Given the description of an element on the screen output the (x, y) to click on. 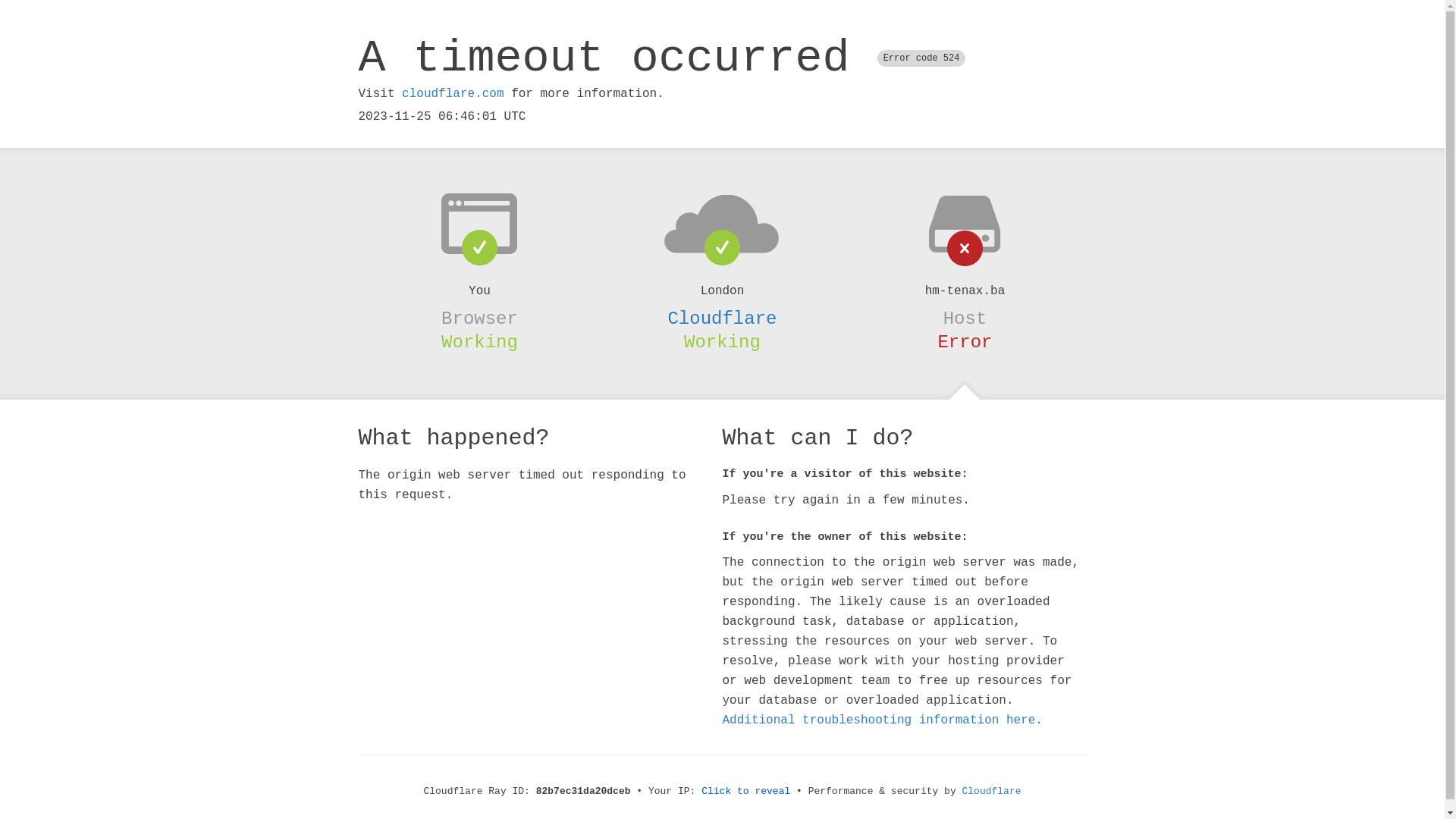
Additional troubleshooting information here. Element type: text (881, 720)
cloudflare.com Element type: text (452, 93)
Click to reveal Element type: text (745, 791)
Cloudflare Element type: text (721, 318)
Cloudflare Element type: text (991, 791)
